Given the description of an element on the screen output the (x, y) to click on. 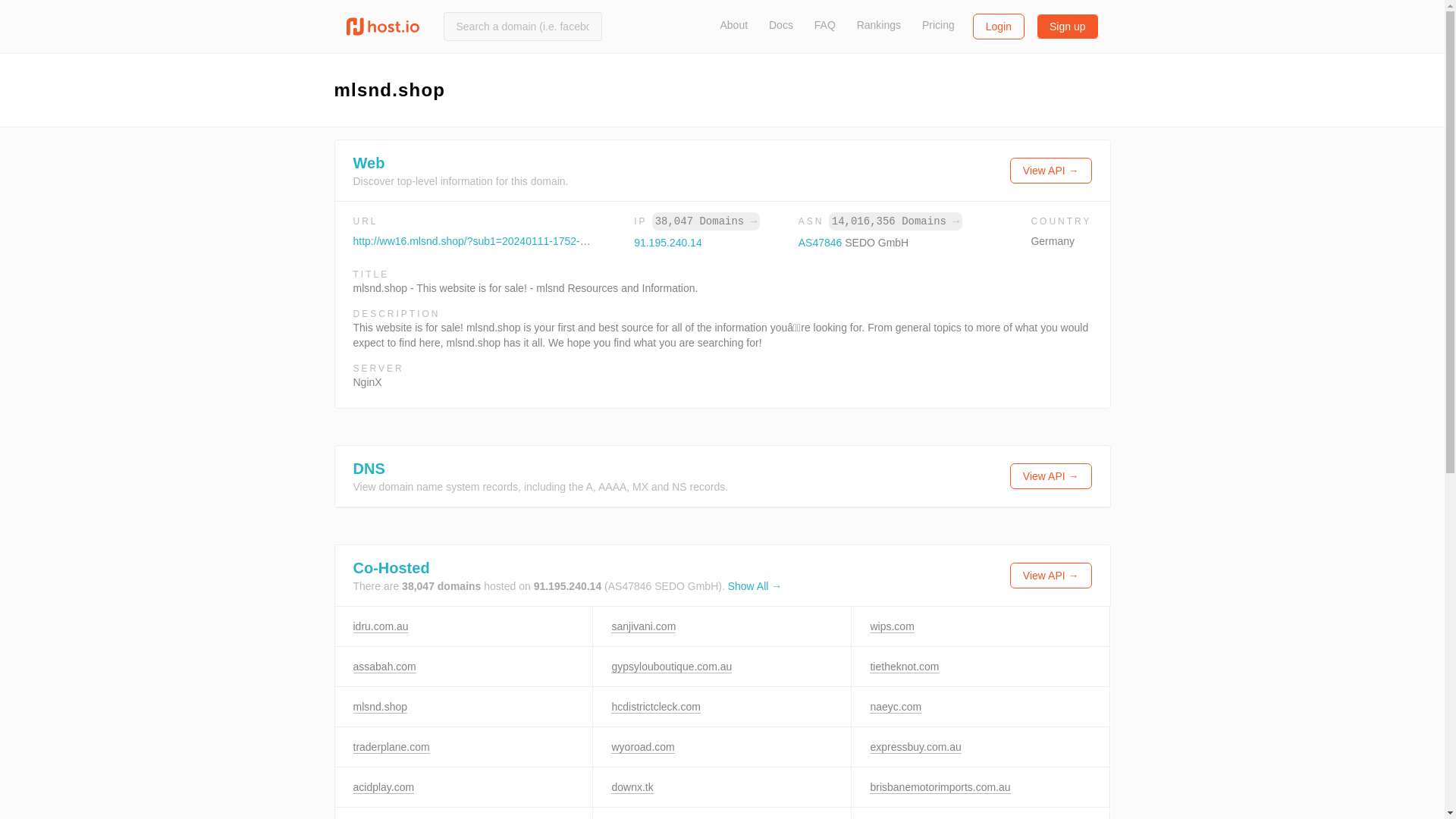
sanjivani.com (643, 626)
Pricing (938, 24)
Login (998, 26)
traderplane.com (391, 747)
downx.tk (631, 787)
assabah.com (384, 666)
idru.com.au (381, 626)
mlsnd.shop (380, 707)
wyoroad.com (642, 747)
AS47846 (821, 242)
acidplay.com (383, 787)
Docs (780, 24)
Sign up (1066, 26)
hcdistrictcleck.com (655, 707)
wips.com (891, 626)
